Given the description of an element on the screen output the (x, y) to click on. 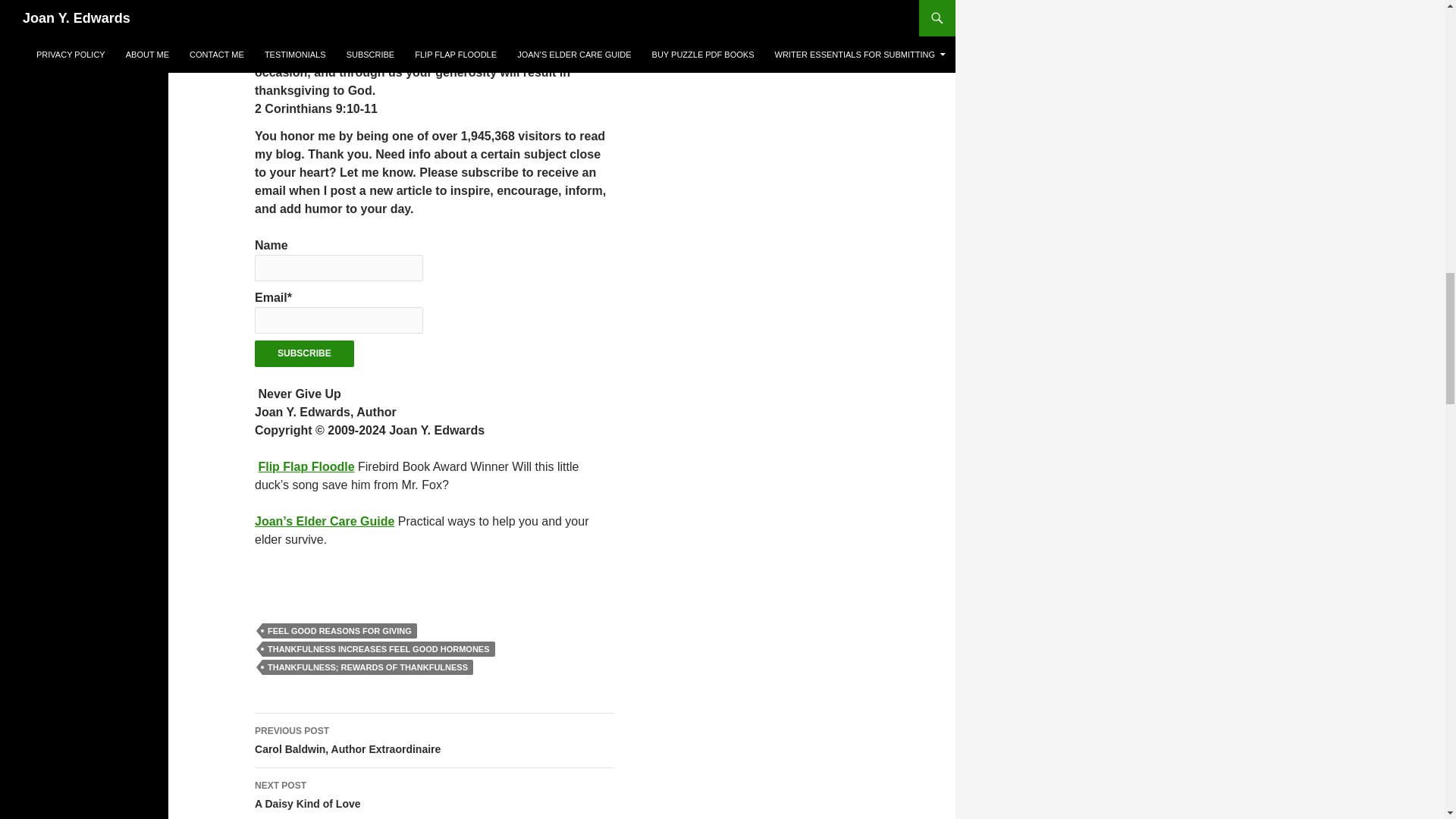
THANKFULNESS; REWARDS OF THANKFULNESS (367, 667)
Subscribe (303, 353)
THANKFULNESS INCREASES FEEL GOOD HORMONES (434, 793)
Subscribe (378, 648)
Flip Flap Floodle (303, 353)
FEEL GOOD REASONS FOR GIVING (305, 466)
